Given the description of an element on the screen output the (x, y) to click on. 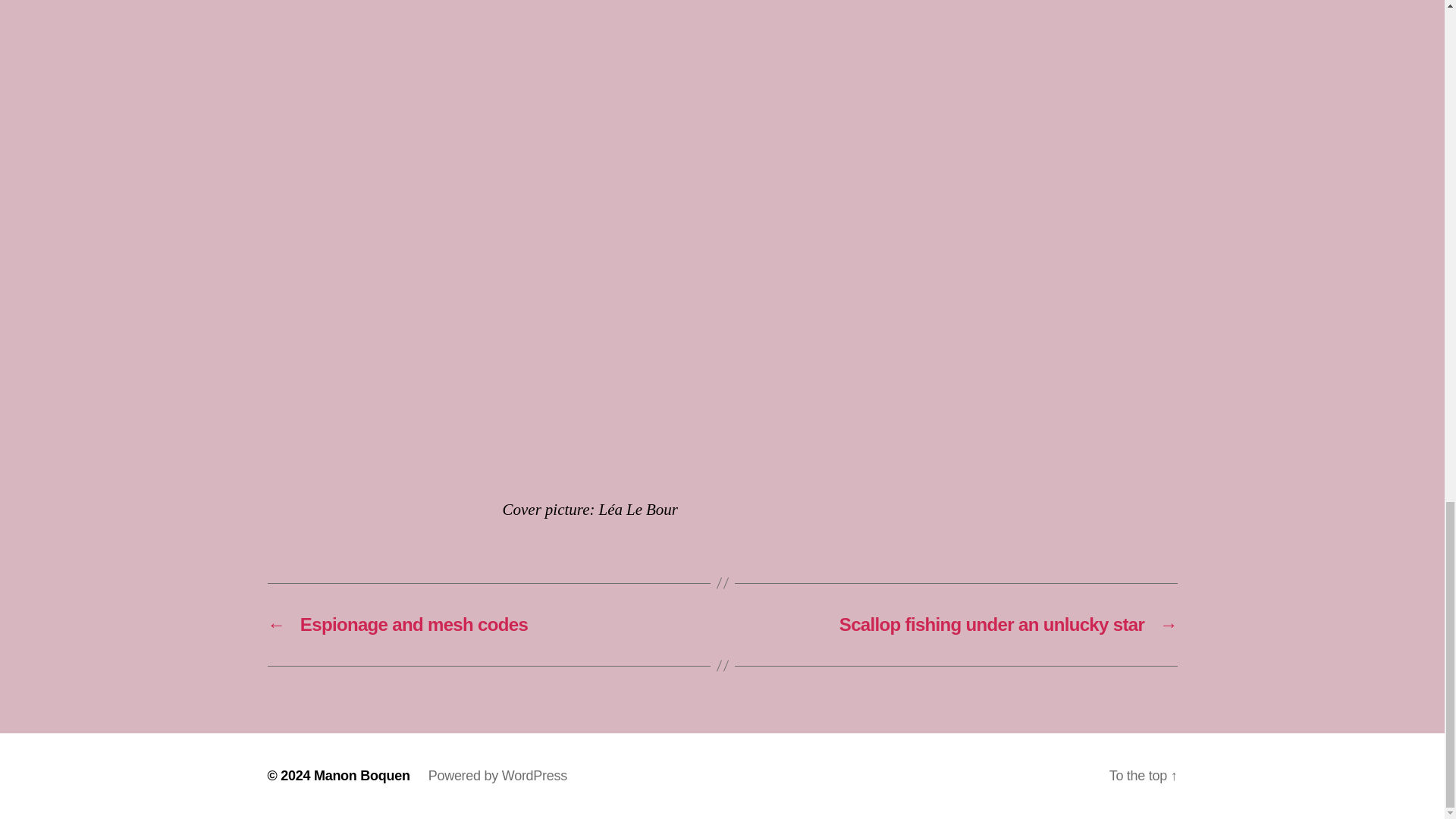
Manon Boquen (362, 775)
Powered by WordPress (497, 775)
